Given the description of an element on the screen output the (x, y) to click on. 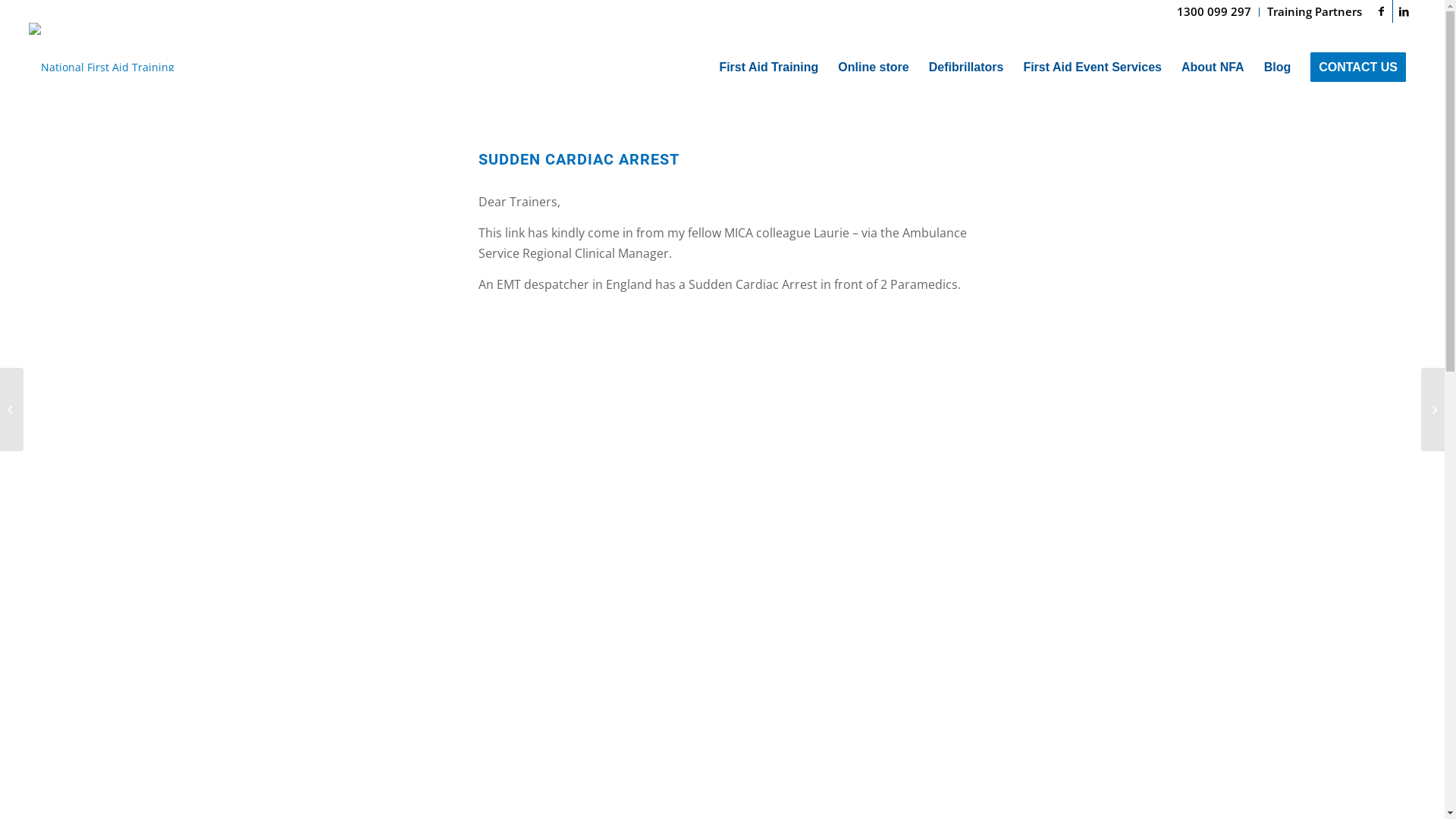
First Aid Event Services Element type: text (1092, 67)
About NFA Element type: text (1212, 67)
Defibrillators Element type: text (966, 67)
Blog Element type: text (1277, 67)
First Aid Training Element type: text (768, 67)
Online store Element type: text (873, 67)
Facebook Element type: hover (1381, 11)
CONTACT US Element type: text (1357, 67)
SUDDEN CARDIAC ARREST Element type: text (577, 159)
LinkedIn Element type: hover (1404, 11)
